Given the description of an element on the screen output the (x, y) to click on. 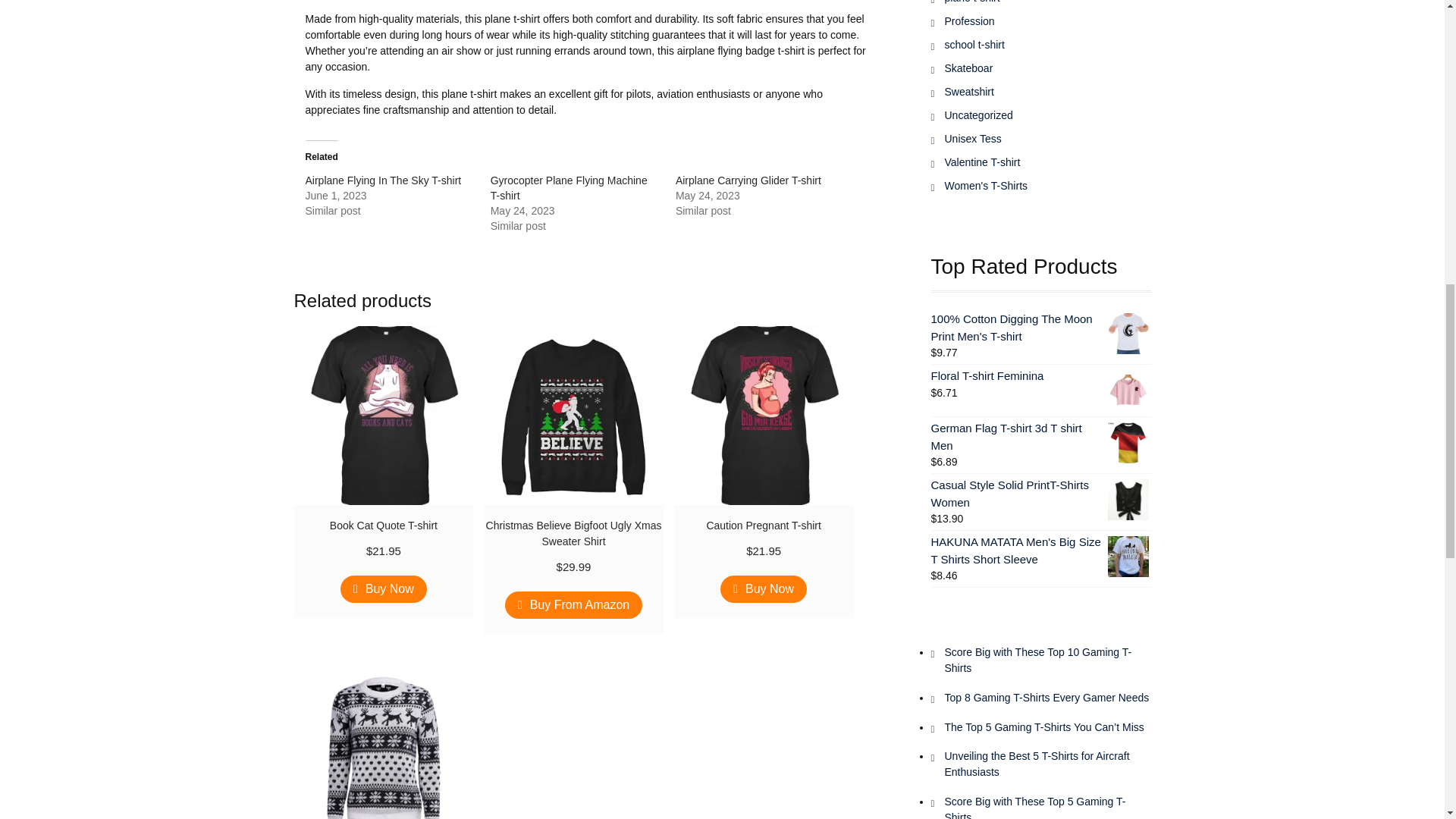
Airplane Flying In The Sky T-shirt (382, 180)
Airplane Carrying Glider T-shirt (748, 180)
Gyrocopter Plane Flying Machine T-shirt (568, 187)
